Given the description of an element on the screen output the (x, y) to click on. 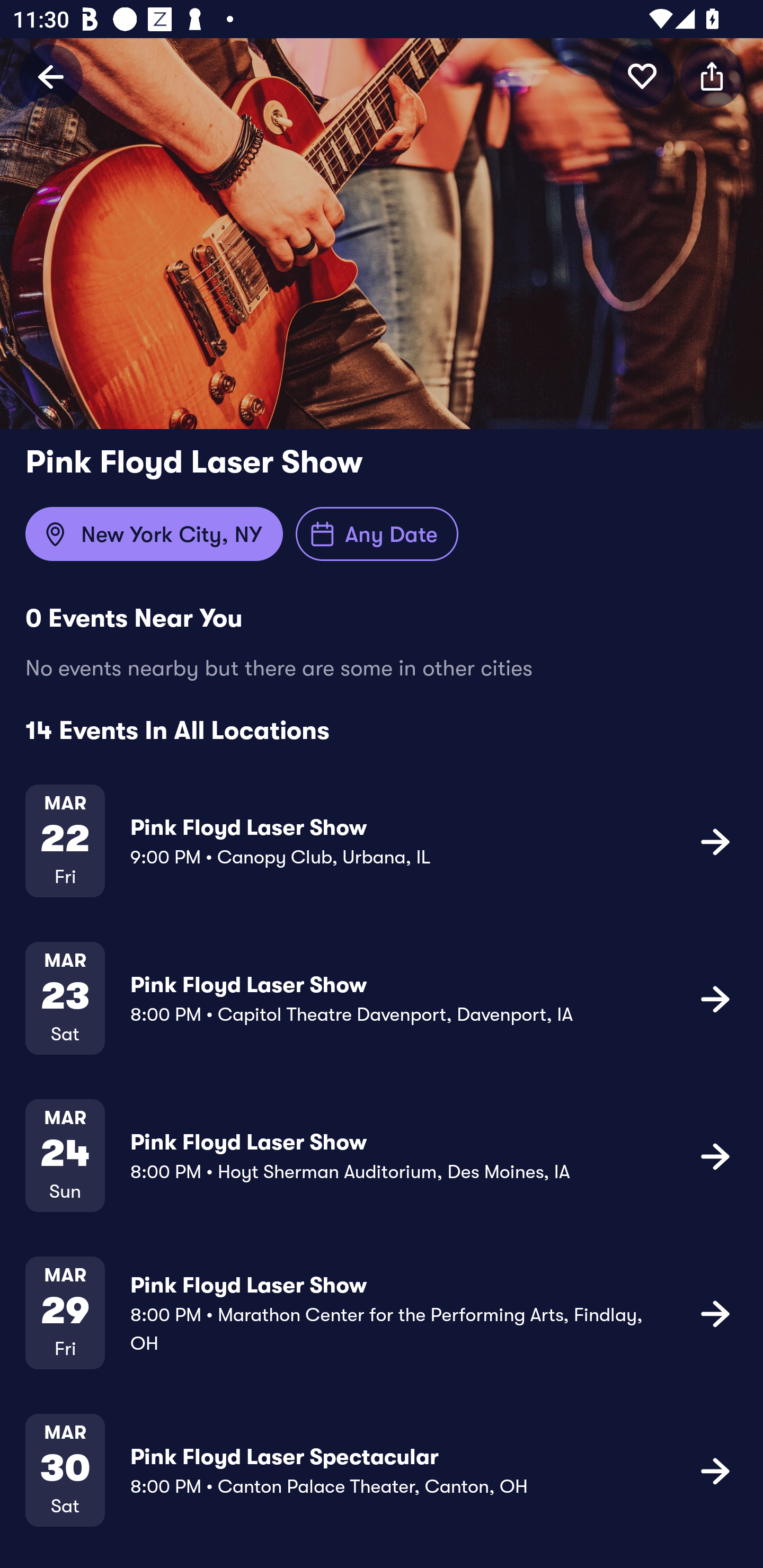
Back (50, 75)
icon button (641, 75)
icon button (711, 75)
New York City, NY (153, 533)
Any Date (377, 533)
icon button (714, 840)
icon button (714, 998)
icon button (714, 1155)
icon button (714, 1312)
icon button (714, 1470)
